Given the description of an element on the screen output the (x, y) to click on. 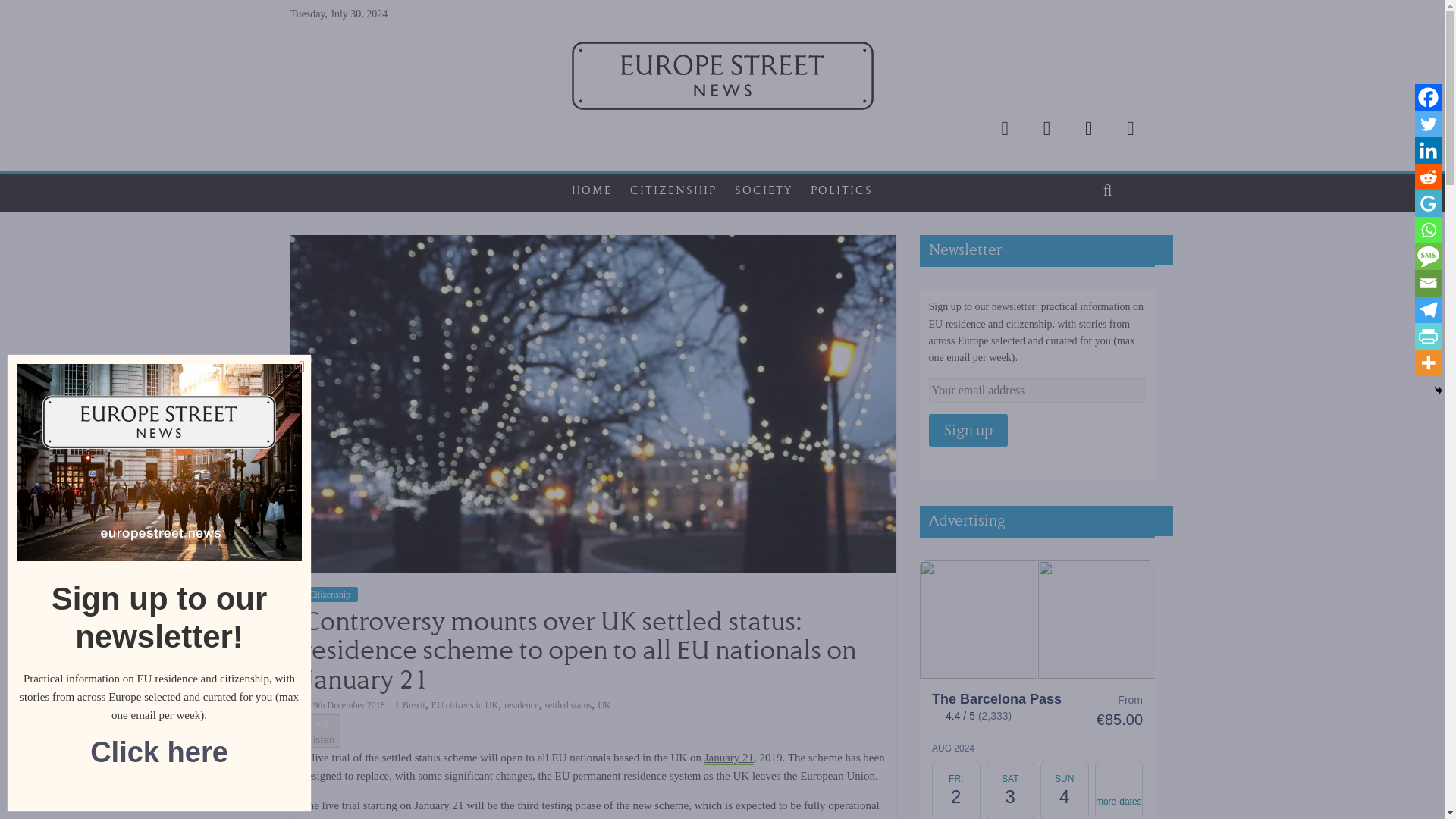
Brexit (414, 705)
Europe Street News (721, 50)
Sign up (967, 430)
SOCIETY (763, 190)
RSS (1130, 128)
HOME (591, 190)
LinkedIn (1088, 128)
Twitter (1428, 123)
CITIZENSHIP (673, 190)
29th December 2018 (343, 705)
Twitter (1005, 128)
EU citizens in UK (463, 705)
January 21 (729, 757)
10:38 pm (343, 705)
SMS (1428, 256)
